Given the description of an element on the screen output the (x, y) to click on. 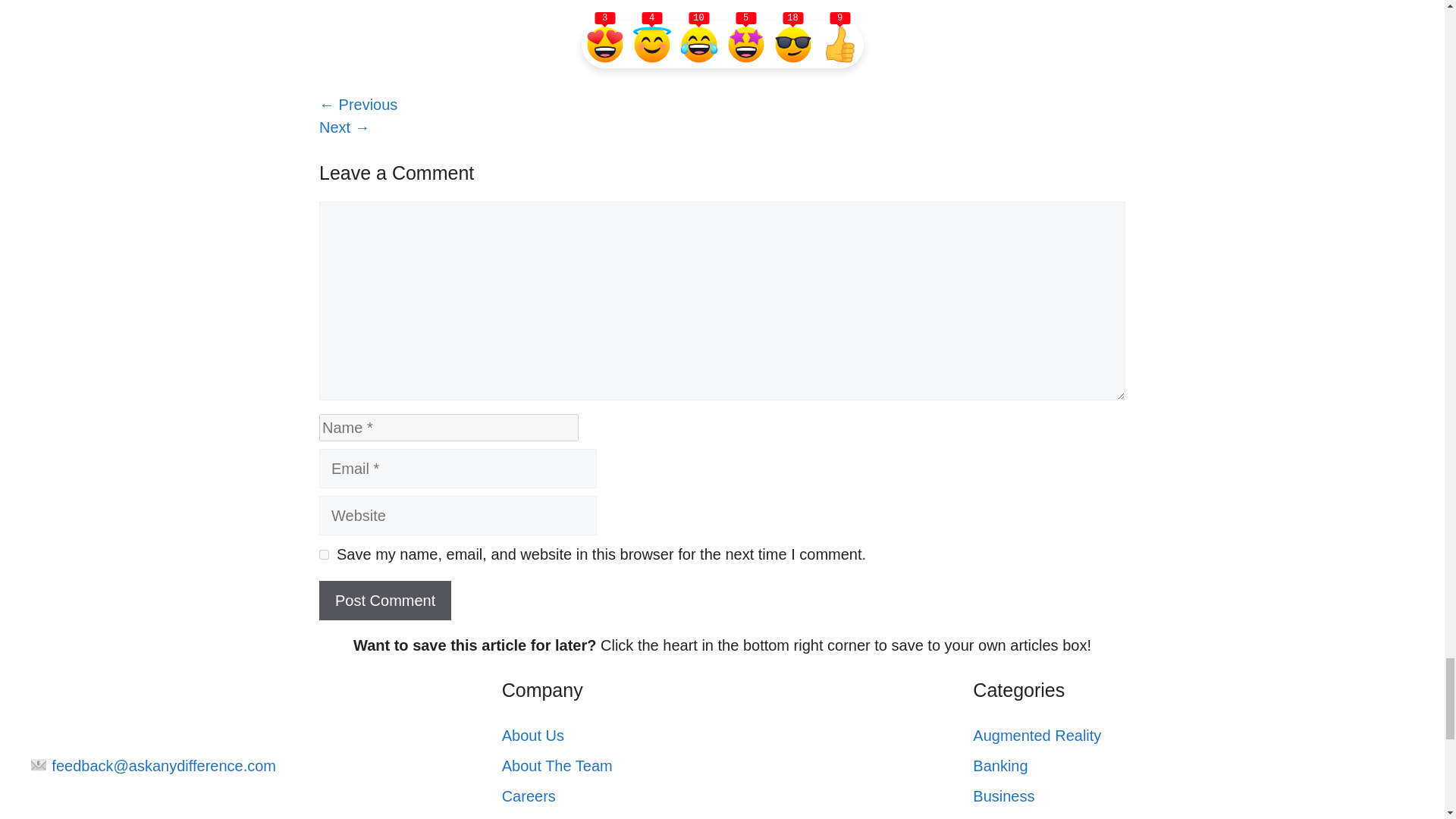
Post Comment (384, 599)
yes (323, 554)
